Given the description of an element on the screen output the (x, y) to click on. 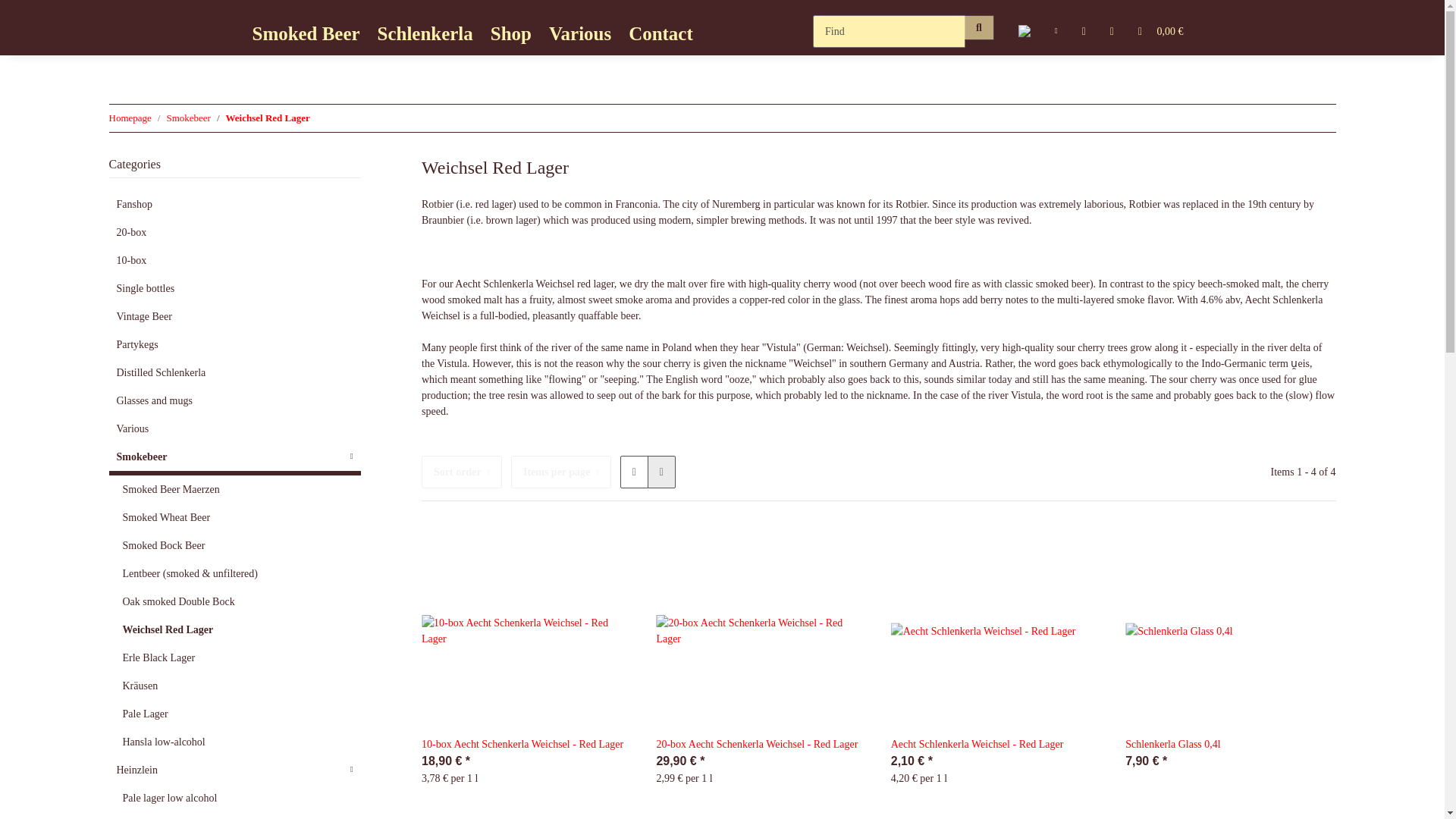
Smoked Beer (311, 33)
Contact (666, 33)
Schlenkerla (430, 33)
Shop (516, 33)
Smoked Beer (523, 33)
Various (311, 33)
